Given the description of an element on the screen output the (x, y) to click on. 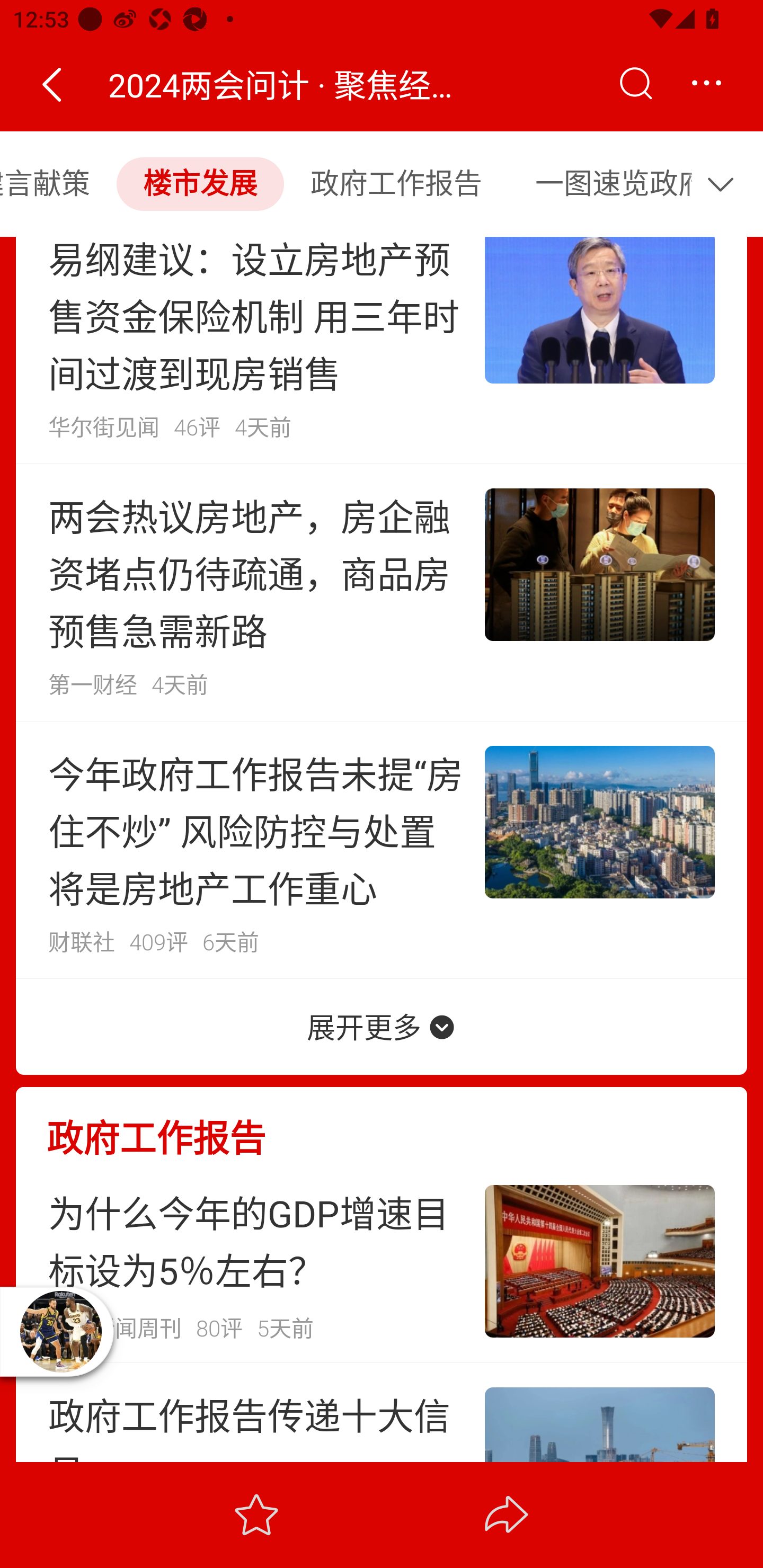
 (50, 83)
 (634, 83)
 (705, 83)
楼市发展 (199, 183)
政府工作报告 (395, 183)
一图速览政府工作报告 (601, 183)
 (724, 183)
易纲建议：设立房地产预售资金保险机制 用三年时间过渡到现房销售 华尔街见闻 46评 4天前 (381, 350)
两会热议房地产，房企融资堵点仍待疏通，商品房预售急需新路 第一财经 4天前 (381, 592)
今年政府工作报告未提“房住不炒” 风险防控与处置将是房地产工作重心 财联社 409评 6天前 (381, 849)
展开更多  (381, 1026)
政府工作报告 (381, 1123)
为什么今年的GDP增速目标设为5％左右？ 中国新闻周刊 80评 5天前 (381, 1261)
播放器 (60, 1331)
收藏  (255, 1514)
分享  (506, 1514)
